Given the description of an element on the screen output the (x, y) to click on. 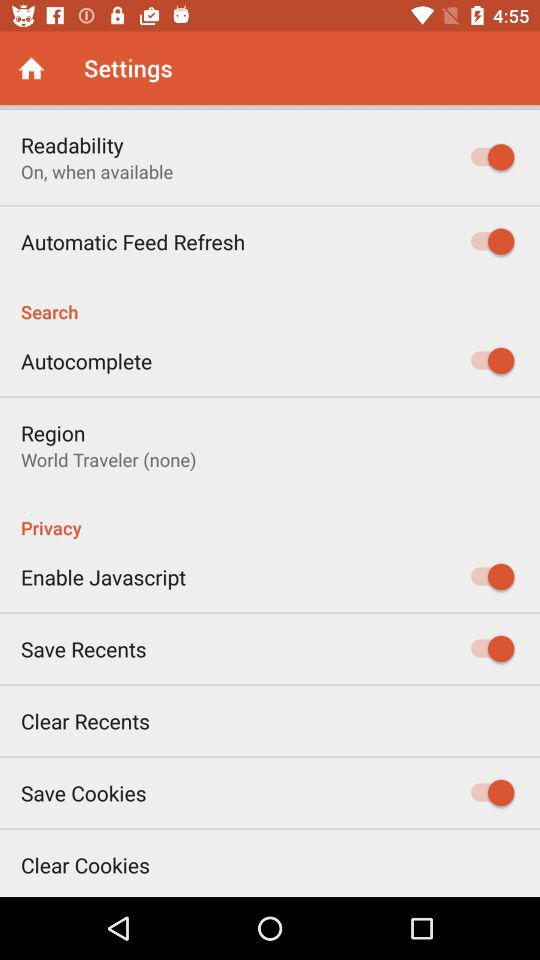
press readability icon (72, 144)
